Given the description of an element on the screen output the (x, y) to click on. 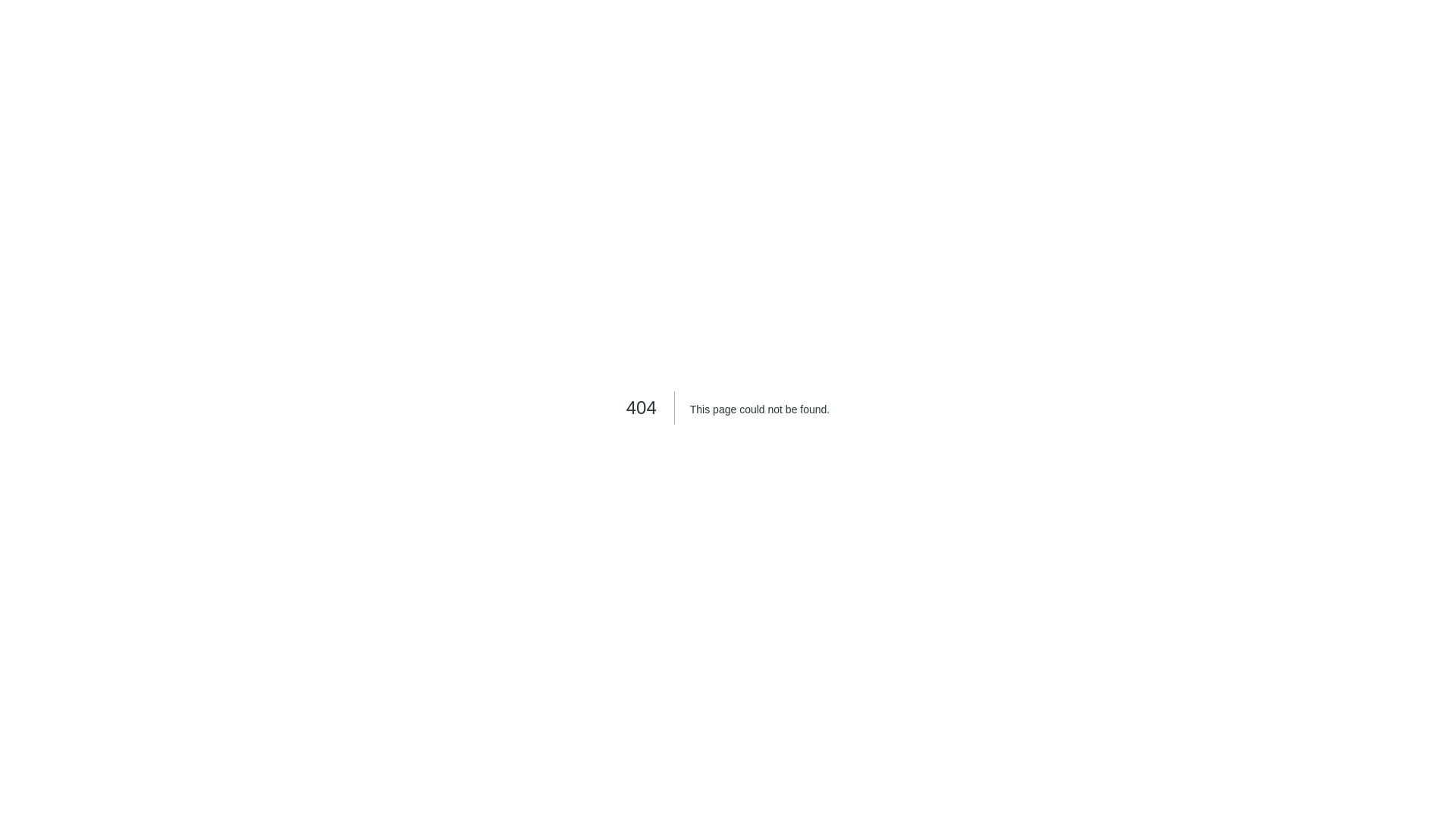
Chat Element type: hover (1417, 778)
